Given the description of an element on the screen output the (x, y) to click on. 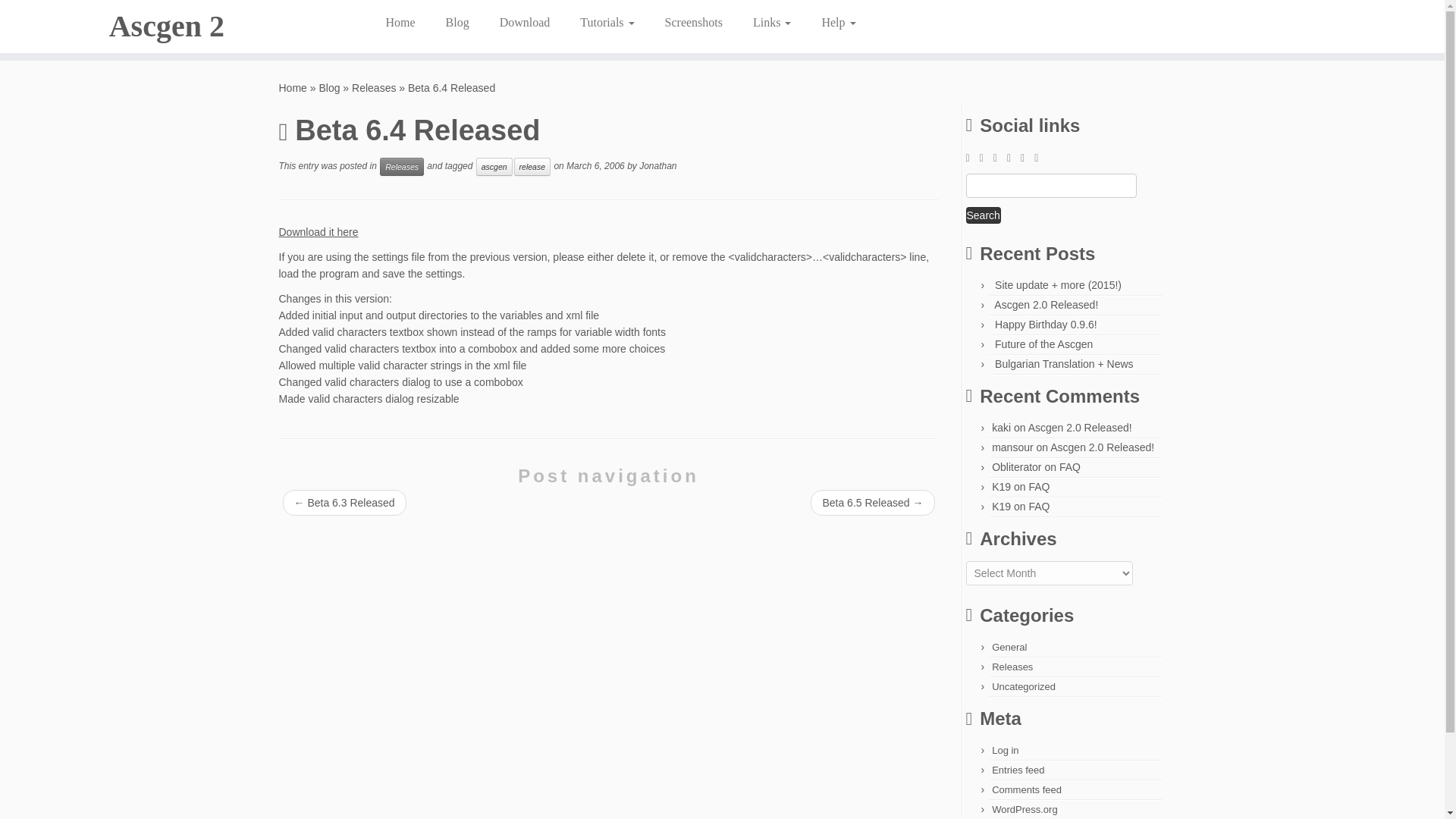
View all posts in ascgen (494, 167)
Home (405, 22)
release (531, 167)
Blog (328, 87)
8:45 pm (595, 165)
Jonathan (658, 165)
Download it here (318, 232)
Blog (457, 22)
Search (983, 215)
Download (525, 22)
